Given the description of an element on the screen output the (x, y) to click on. 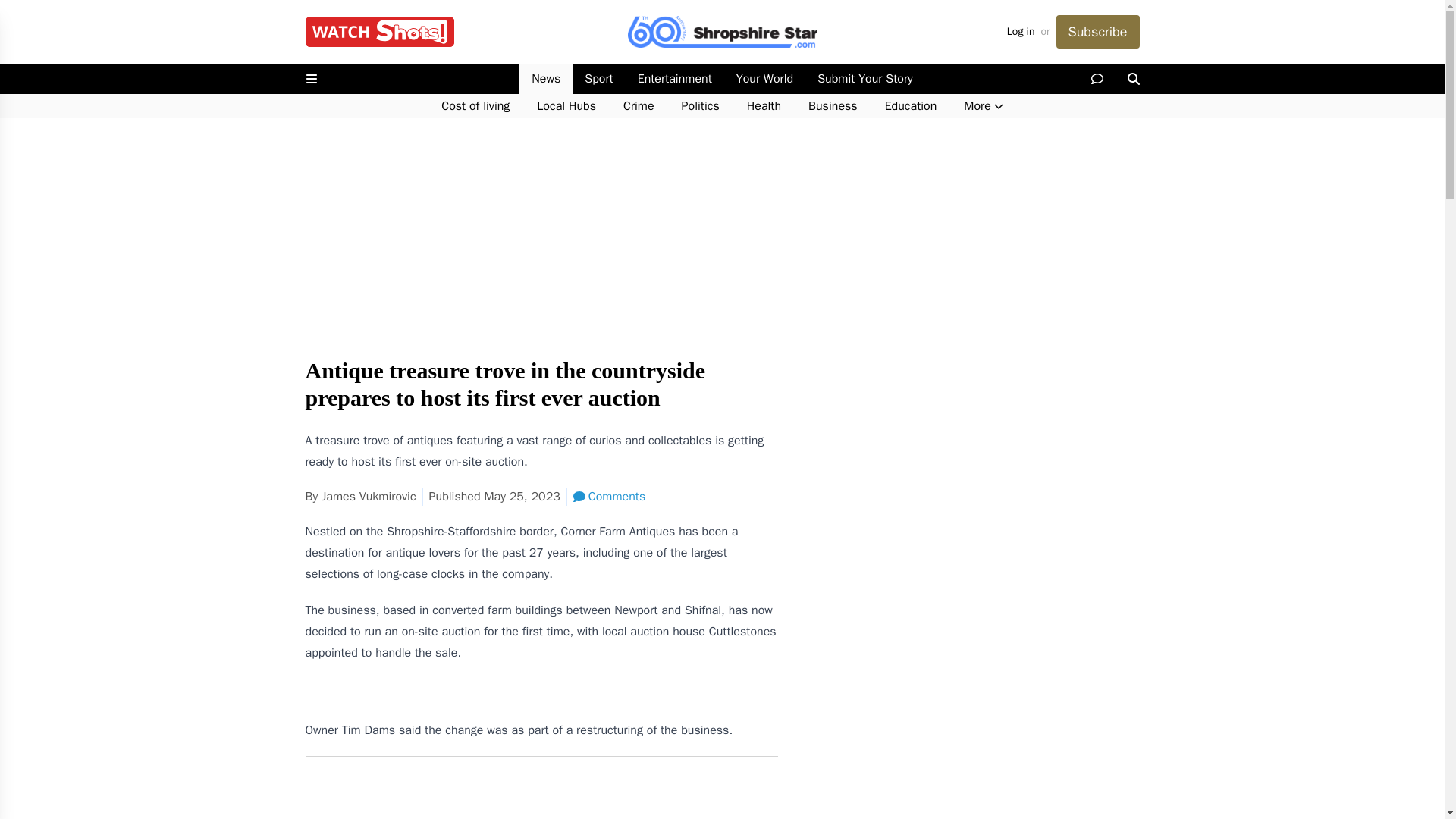
Entertainment (674, 78)
Sport (598, 78)
Health (764, 105)
Business (832, 105)
More (983, 105)
Politics (700, 105)
Local Hubs (566, 105)
Log in (1021, 31)
Subscribe (1096, 31)
Education (910, 105)
